Given the description of an element on the screen output the (x, y) to click on. 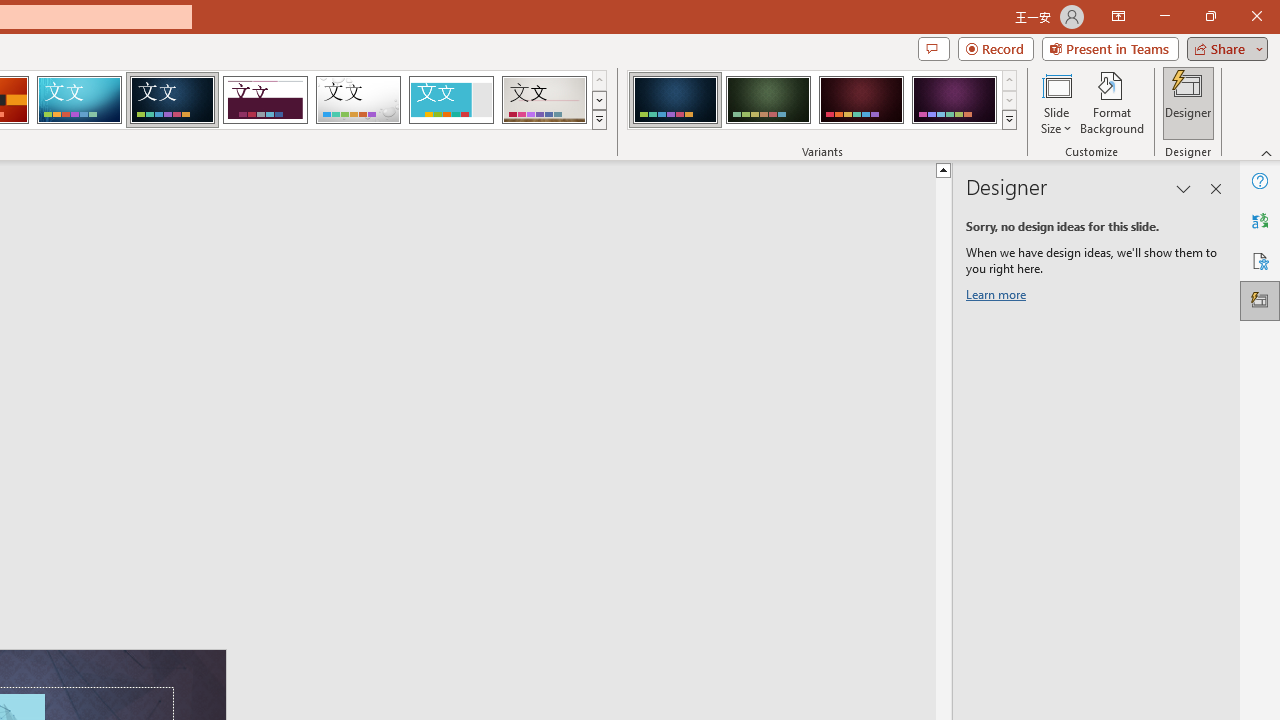
Damask Variant 2 (768, 100)
Damask Variant 4 (953, 100)
Format Background (1111, 102)
Gallery (544, 100)
Droplet (358, 100)
Circuit (79, 100)
Learn more (998, 297)
Damask Variant 1 (674, 100)
